Given the description of an element on the screen output the (x, y) to click on. 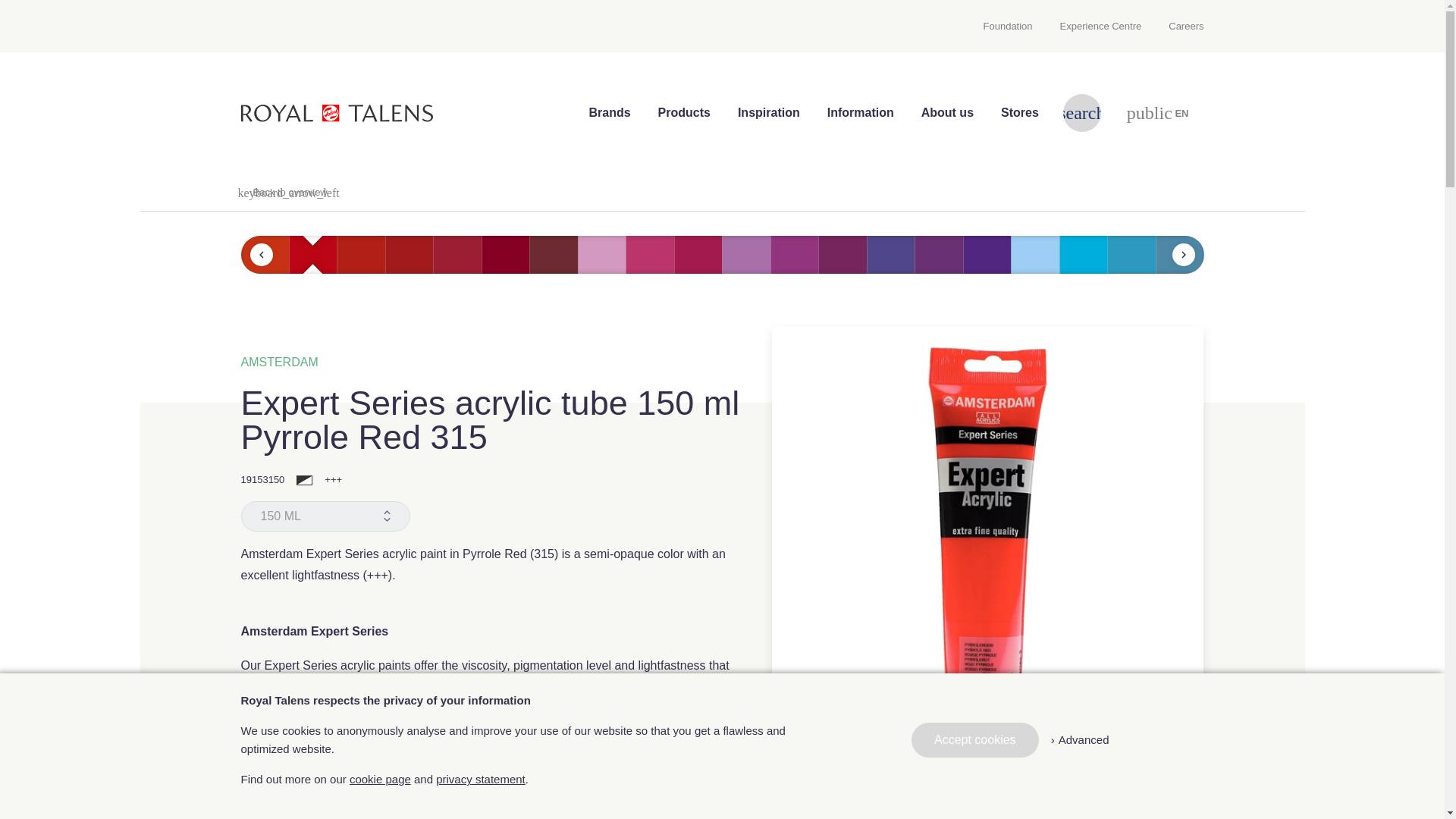
Stores (1019, 112)
Information (860, 112)
Brands (609, 112)
Experience Centre (1101, 25)
cookie page (1158, 112)
Foundation (379, 779)
Advanced (1015, 25)
privacy statement (1080, 740)
Accept cookies (480, 779)
About us (975, 739)
Back to overview (947, 112)
Careers (287, 191)
Products (1179, 25)
Inspiration (684, 112)
